Given the description of an element on the screen output the (x, y) to click on. 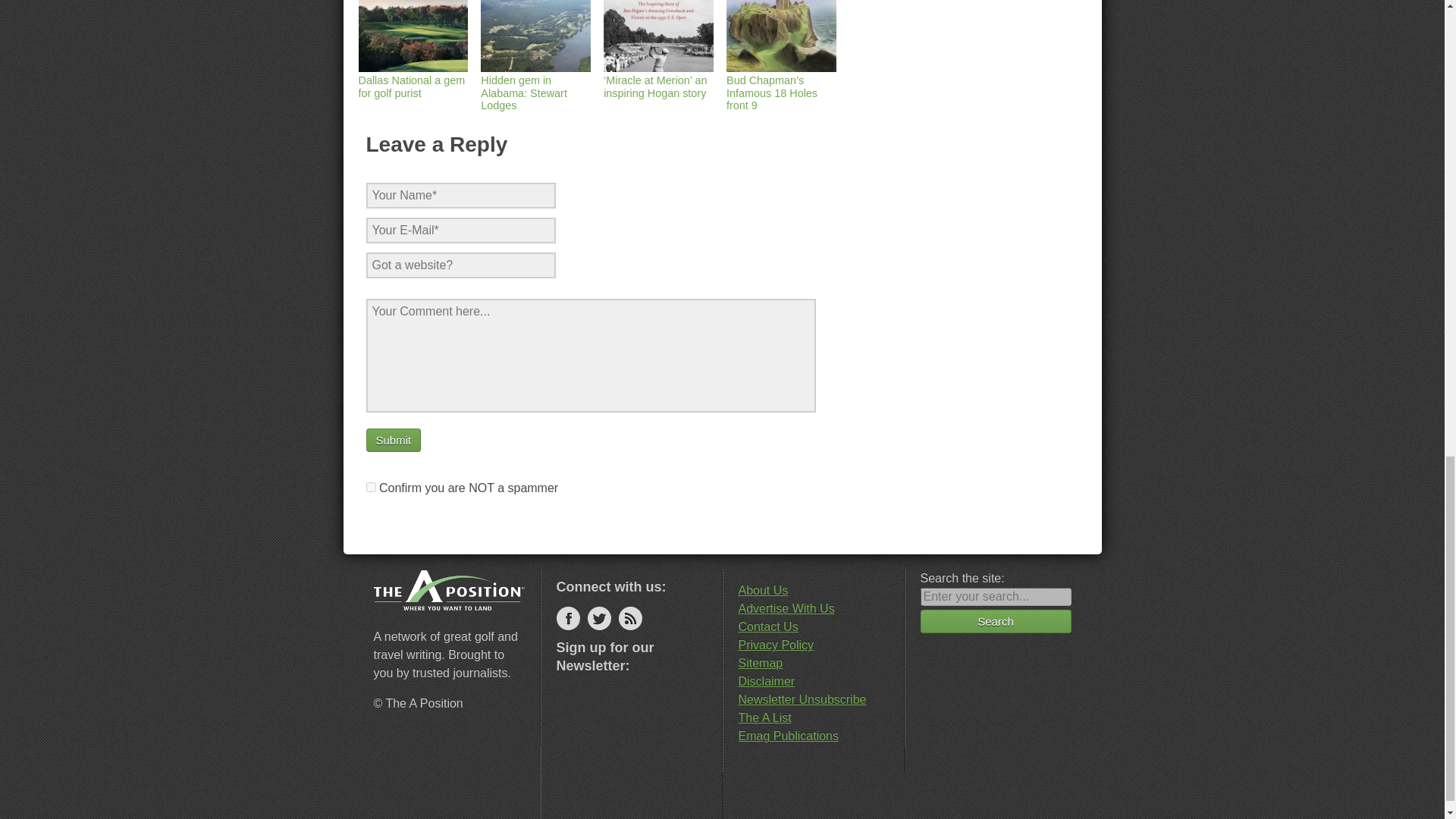
Hidden gem in Alabama: Stewart Lodges (534, 86)
Submit (392, 440)
Hidden gem in Alabama: Stewart Lodges (534, 86)
on (370, 487)
Dallas National a gem for golf purist (412, 80)
Search (995, 621)
Submit (392, 440)
Dallas National a gem for golf purist (412, 80)
